Given the description of an element on the screen output the (x, y) to click on. 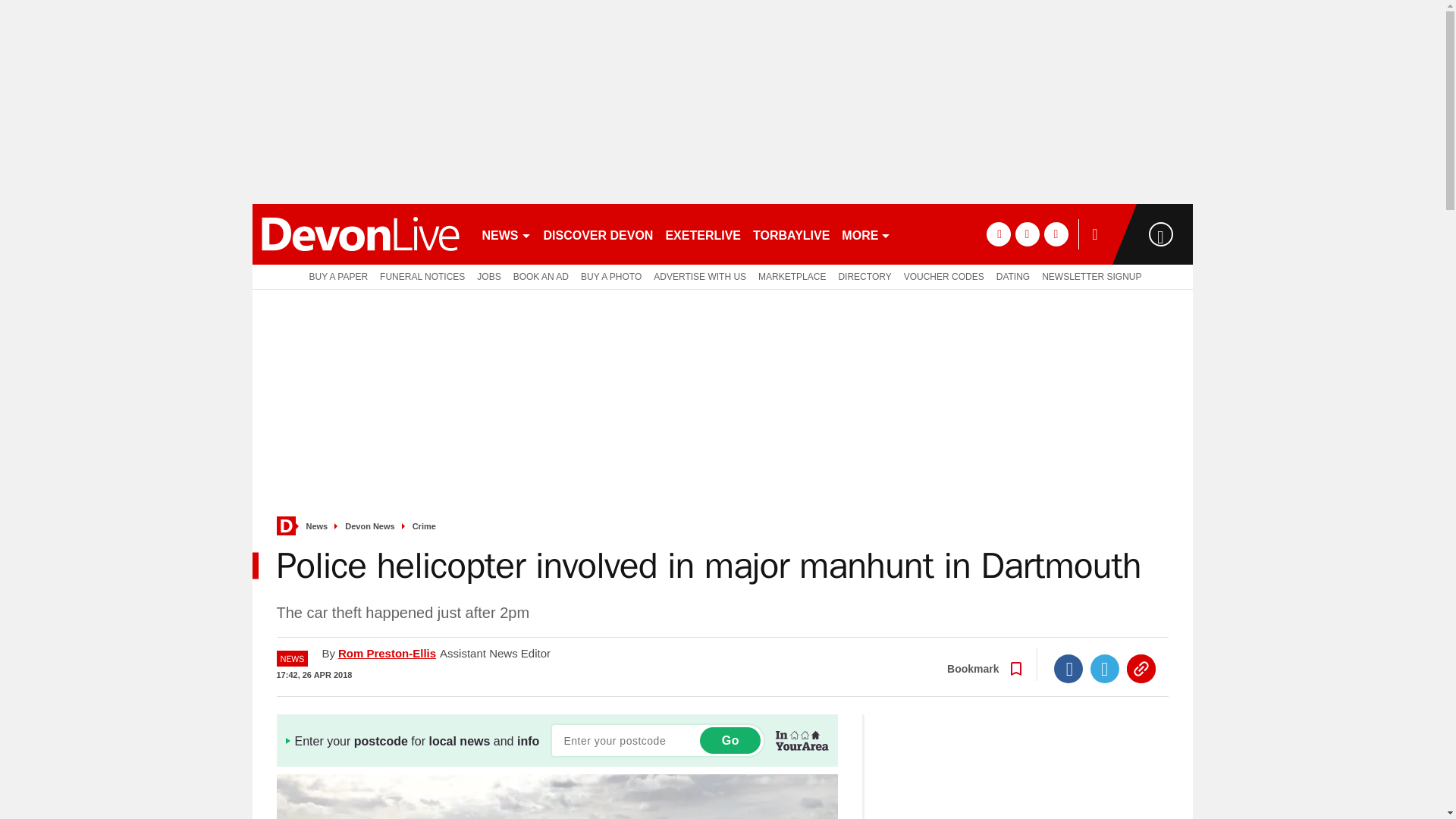
NEWS (506, 233)
Twitter (1104, 668)
facebook (997, 233)
DISCOVER DEVON (598, 233)
twitter (1026, 233)
MORE (865, 233)
instagram (1055, 233)
TORBAYLIVE (790, 233)
devonlive (359, 233)
EXETERLIVE (702, 233)
